Given the description of an element on the screen output the (x, y) to click on. 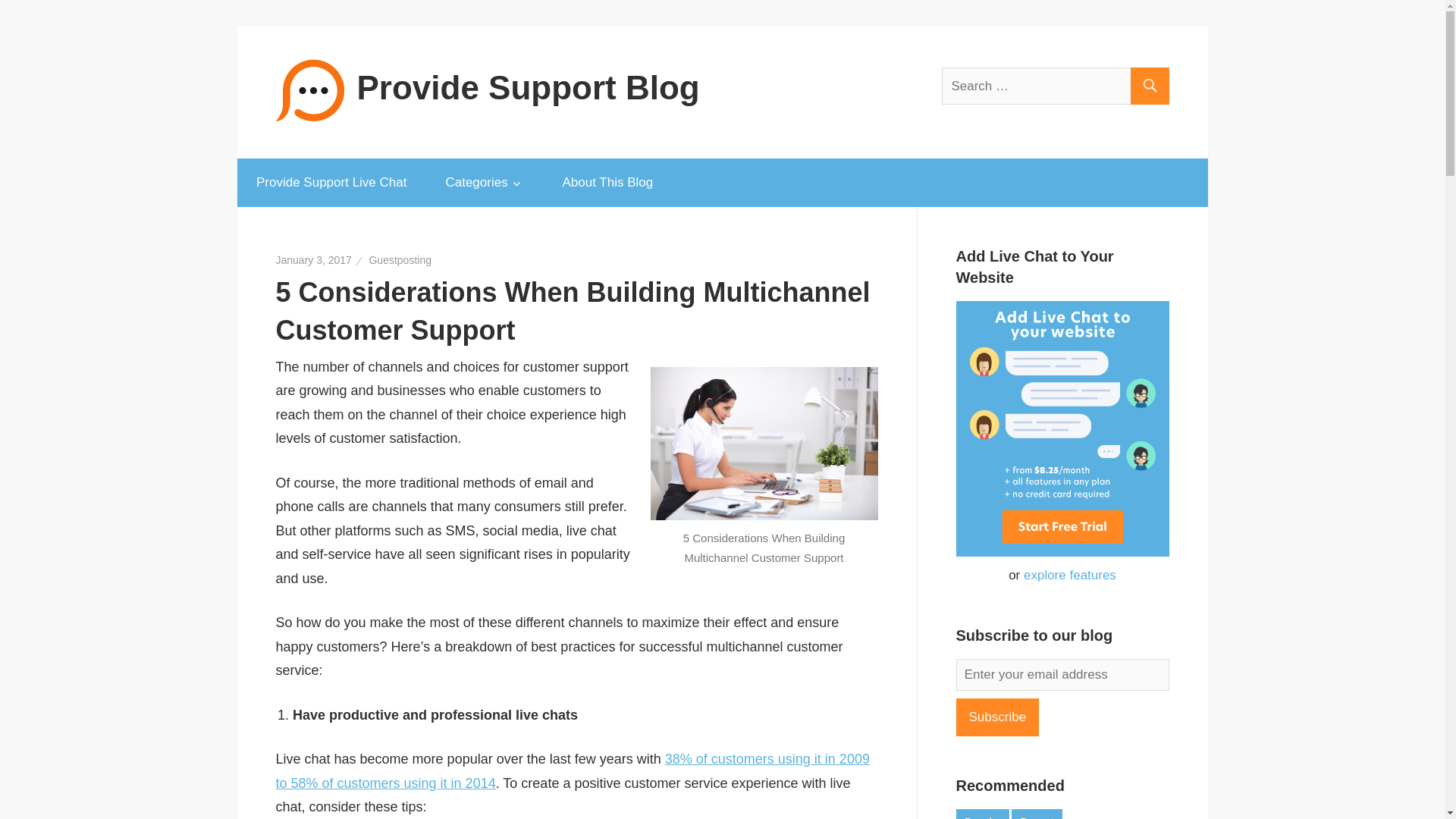
Guestposting (399, 259)
View all posts by Guestposting (399, 259)
January 3, 2017 (314, 259)
About This Blog (607, 182)
Provide Support Live Chat (330, 182)
Categories (484, 182)
Search for: (1055, 85)
Subscribe (997, 717)
Provide Support Blog (527, 86)
